Given the description of an element on the screen output the (x, y) to click on. 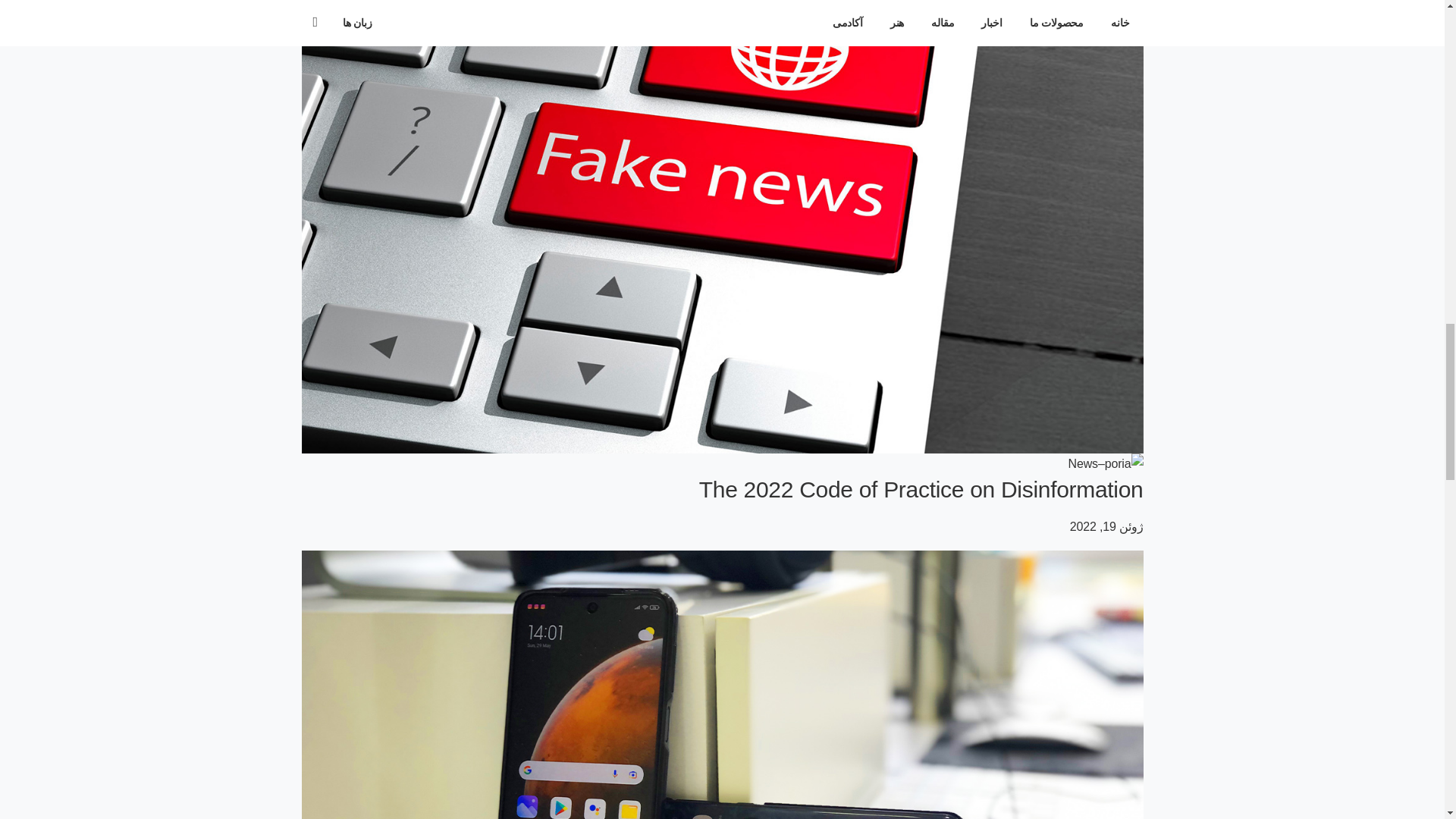
The 2022 Code of Practice on Disinformation (920, 489)
News (1082, 463)
